Given the description of an element on the screen output the (x, y) to click on. 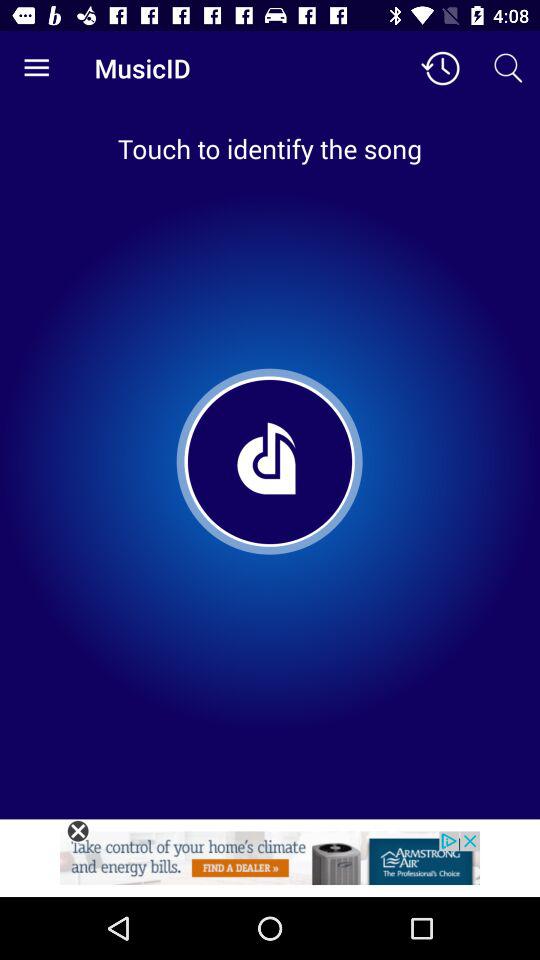
click the close option (78, 831)
